Given the description of an element on the screen output the (x, y) to click on. 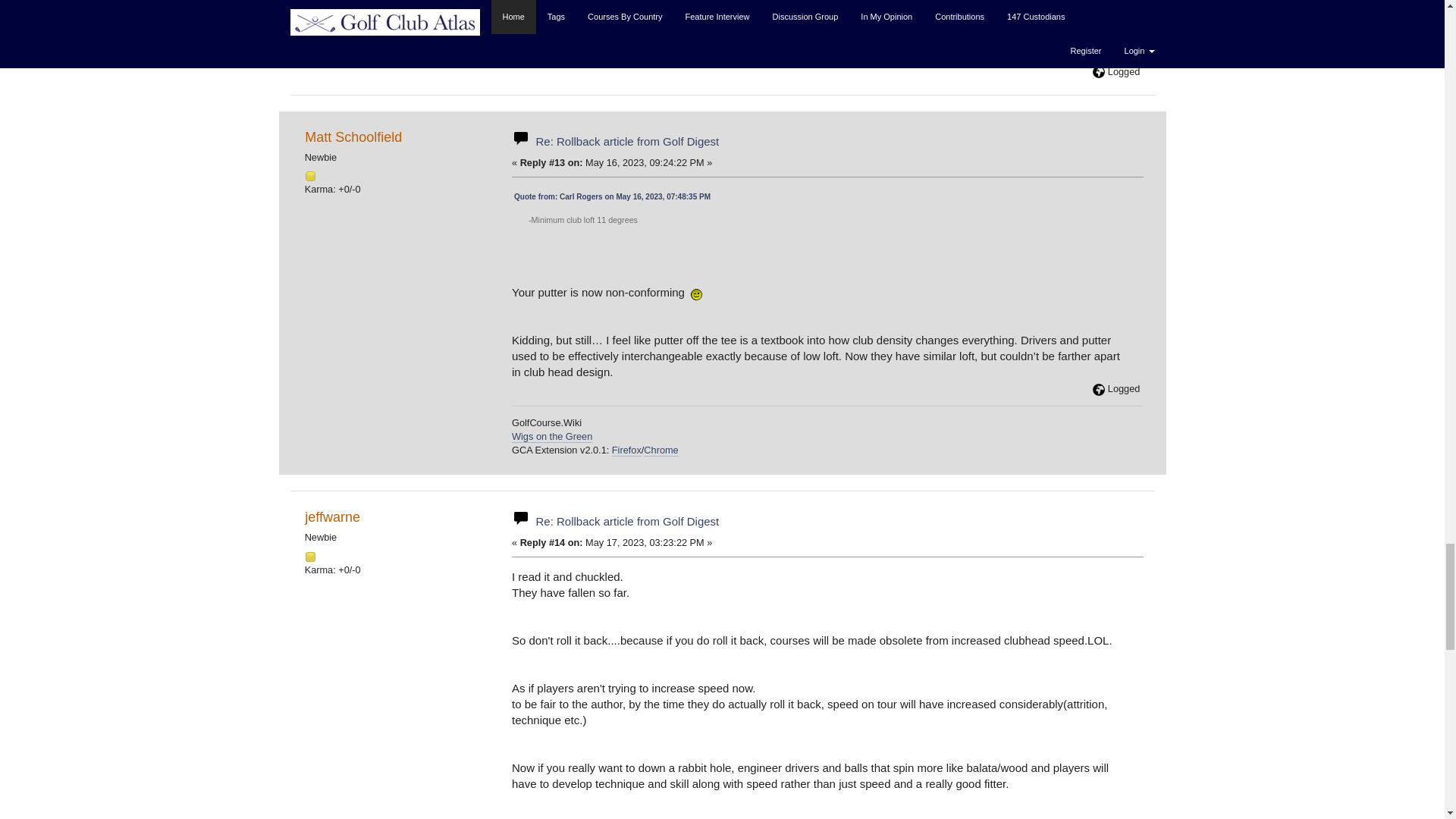
Wink (695, 294)
